Given the description of an element on the screen output the (x, y) to click on. 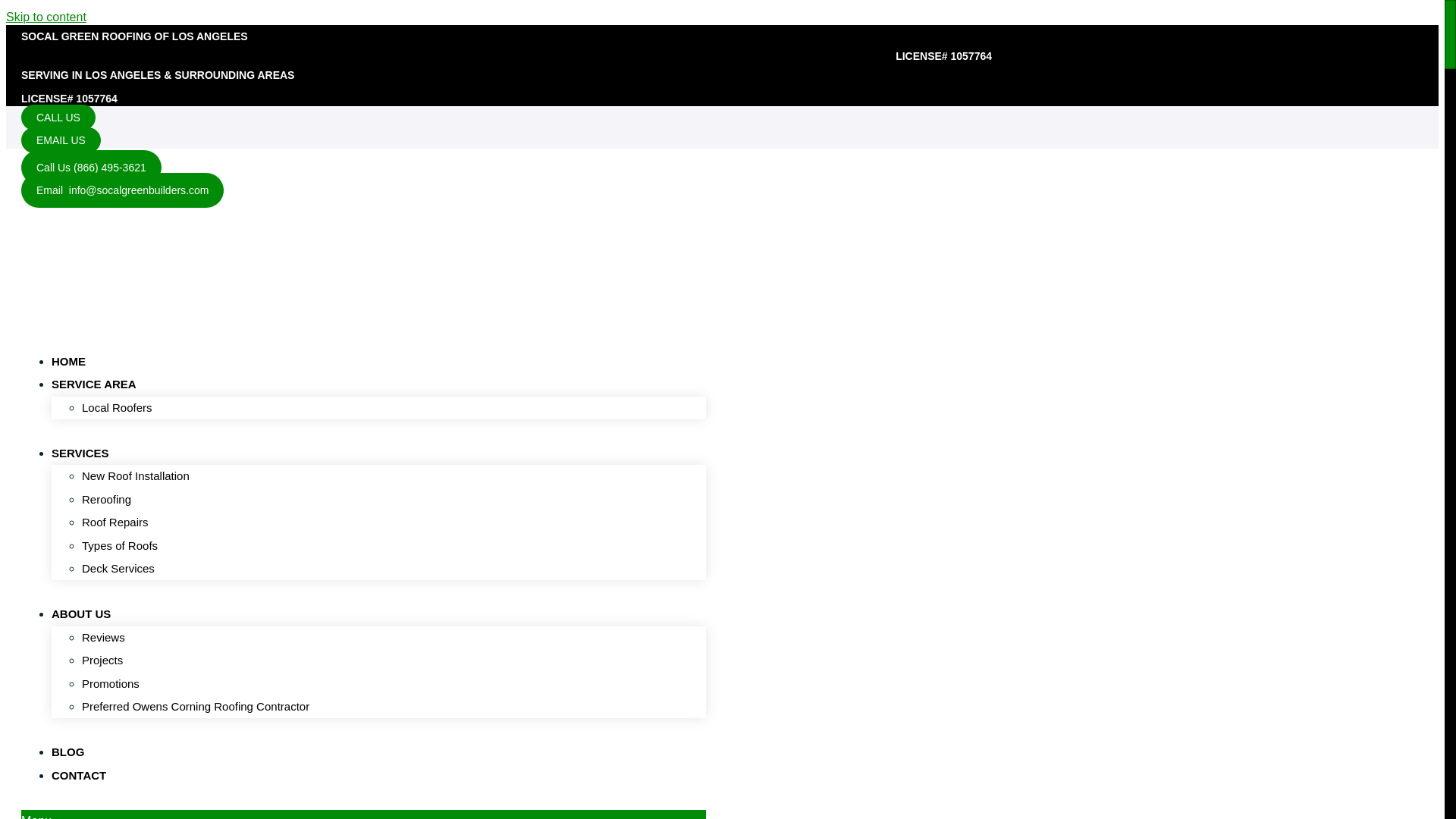
BLOG (67, 751)
Preferred Owens Corning Roofing Contractor (194, 706)
Types of Roofs (119, 545)
Roof Repairs (114, 521)
Skip to content (45, 16)
SERVICES (86, 452)
CONTACT (78, 775)
SERVICE AREA (100, 383)
CALL US (58, 117)
New Roof Installation (135, 475)
Reroofing (106, 499)
Projects (101, 659)
HOME (67, 361)
Local Roofers (116, 407)
Reviews (103, 636)
